Given the description of an element on the screen output the (x, y) to click on. 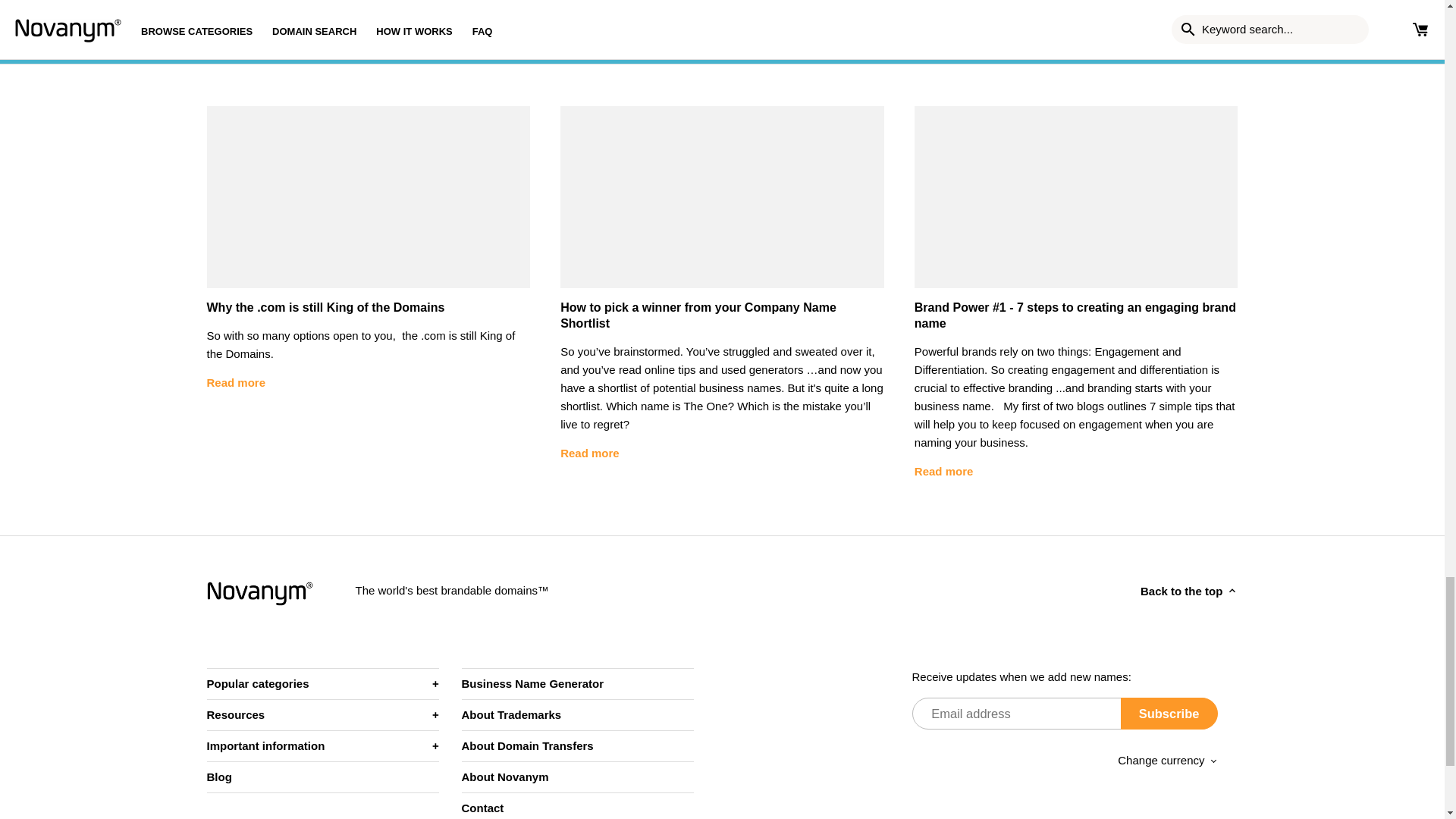
Subscribe (1169, 713)
